Given the description of an element on the screen output the (x, y) to click on. 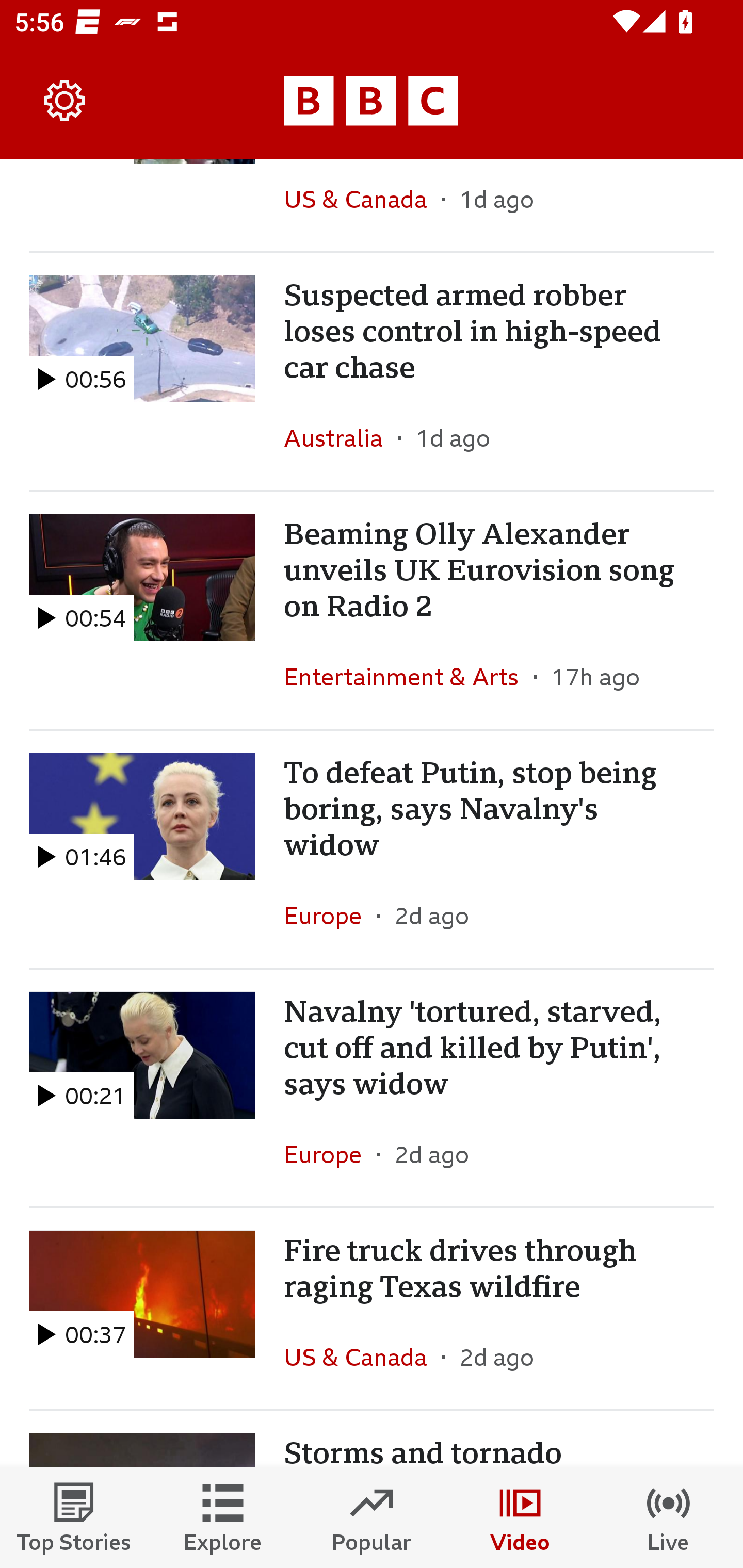
Settings (64, 100)
US & Canada In the section US & Canada (362, 204)
Australia In the section Australia (340, 437)
Europe In the section Europe (329, 915)
Europe In the section Europe (329, 1153)
US & Canada In the section US & Canada (362, 1356)
Top Stories (74, 1517)
Explore (222, 1517)
Popular (371, 1517)
Live (668, 1517)
